Given the description of an element on the screen output the (x, y) to click on. 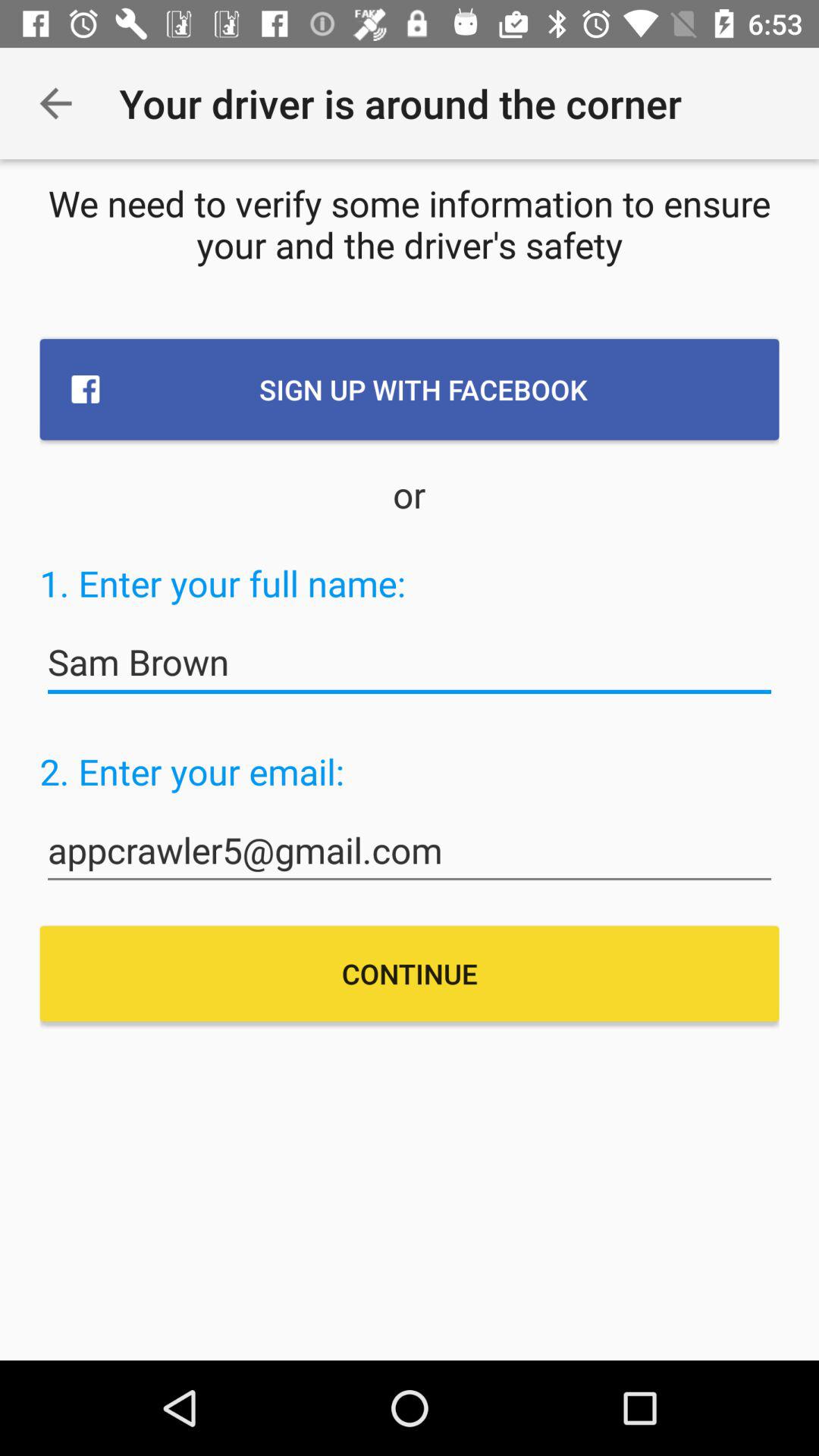
press continue item (409, 973)
